Given the description of an element on the screen output the (x, y) to click on. 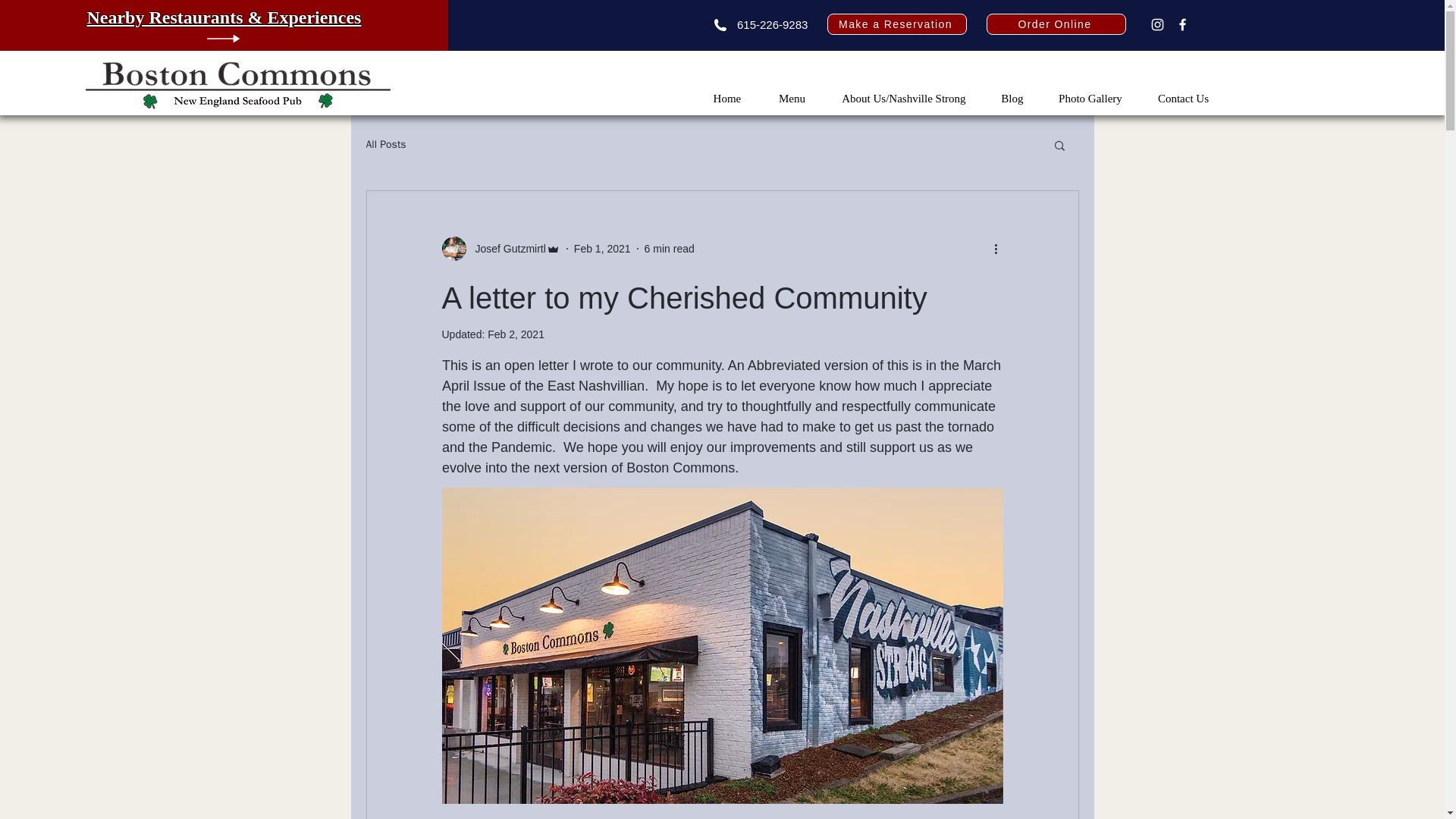
Home (727, 98)
Feb 1, 2021 (601, 248)
Order Online (1056, 24)
Feb 2, 2021 (515, 334)
6 min read (669, 248)
Blog (1012, 98)
Make a Reservation (896, 24)
Photo Gallery (1090, 98)
Josef Gutzmirtl (500, 248)
Contact Us (1183, 98)
Menu (792, 98)
Josef  Gutzmirtl (504, 248)
All Posts (385, 144)
